Given the description of an element on the screen output the (x, y) to click on. 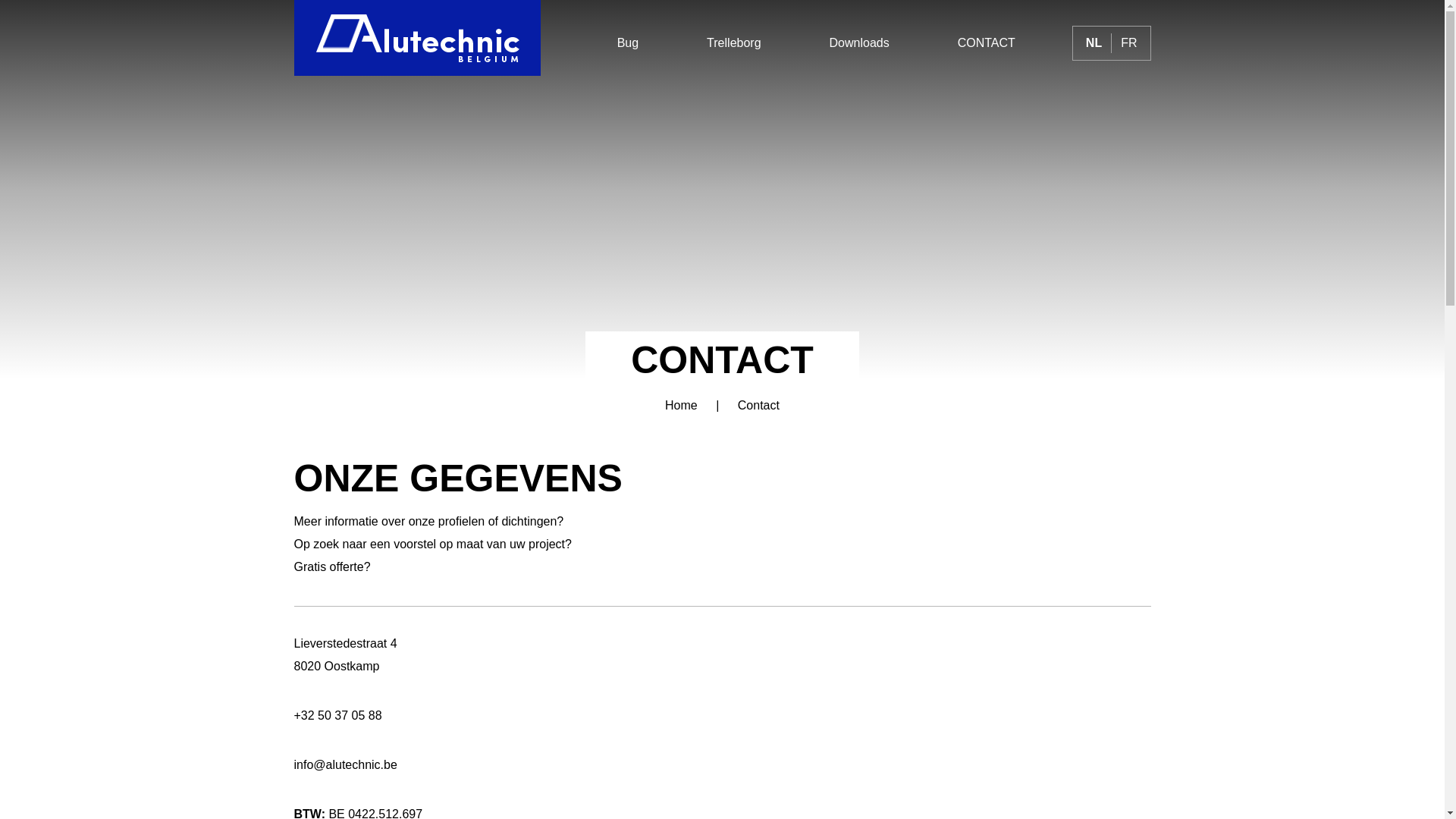
NL Element type: text (1093, 42)
Downloads Element type: text (859, 42)
Home Element type: text (680, 404)
Trelleborg Element type: text (733, 42)
Bug Element type: text (627, 42)
FR Element type: text (1128, 42)
CONTACT Element type: text (986, 42)
